Given the description of an element on the screen output the (x, y) to click on. 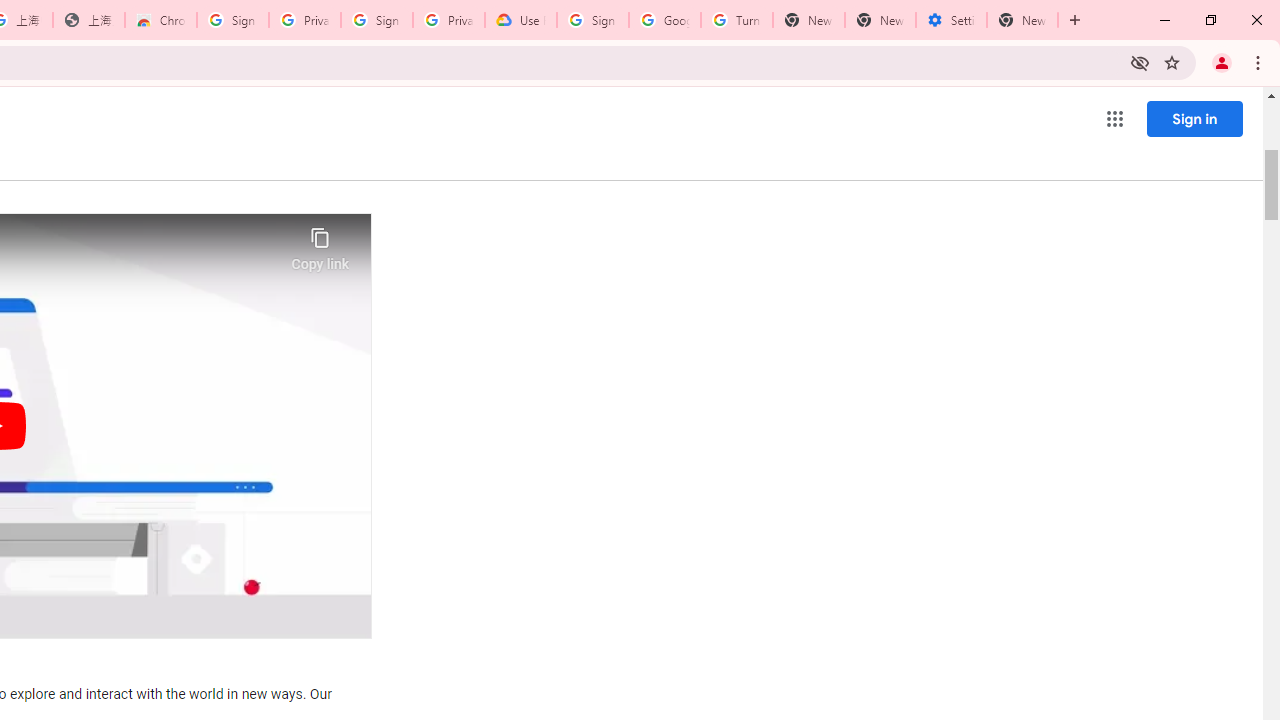
Chrome Web Store - Color themes by Chrome (161, 20)
Settings - System (951, 20)
Google Account Help (664, 20)
New Tab (1022, 20)
